Given the description of an element on the screen output the (x, y) to click on. 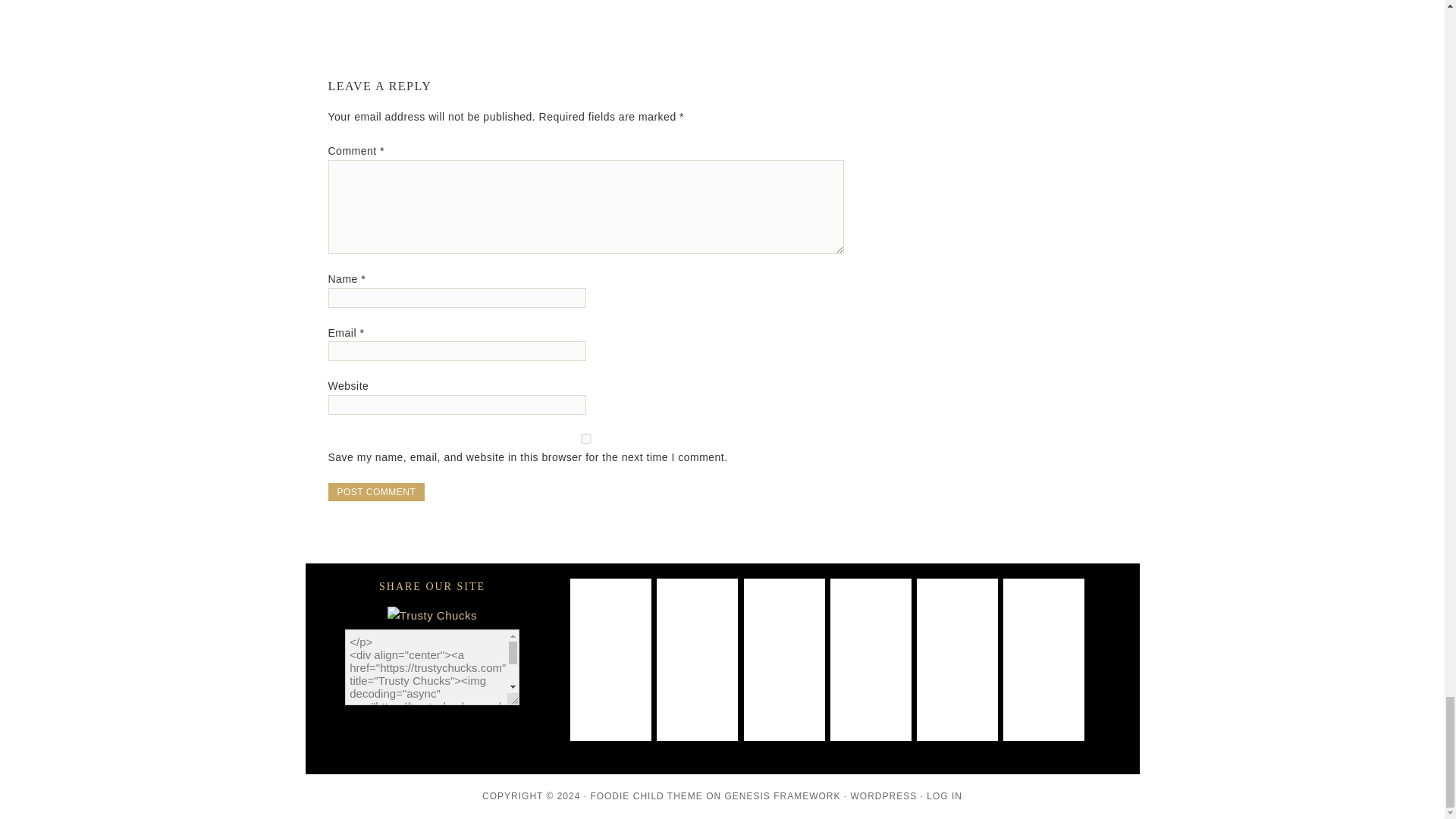
Post Comment (376, 492)
yes (585, 438)
2024 Book Club List (870, 618)
Writing about the dead (697, 618)
2022 Travel Highlights (697, 700)
humble, quiet, and meek (1043, 618)
Favorite Books of 2022 (784, 700)
Post Comment (376, 492)
paint colors, for now (610, 618)
Trusty Chucks (432, 615)
